Given the description of an element on the screen output the (x, y) to click on. 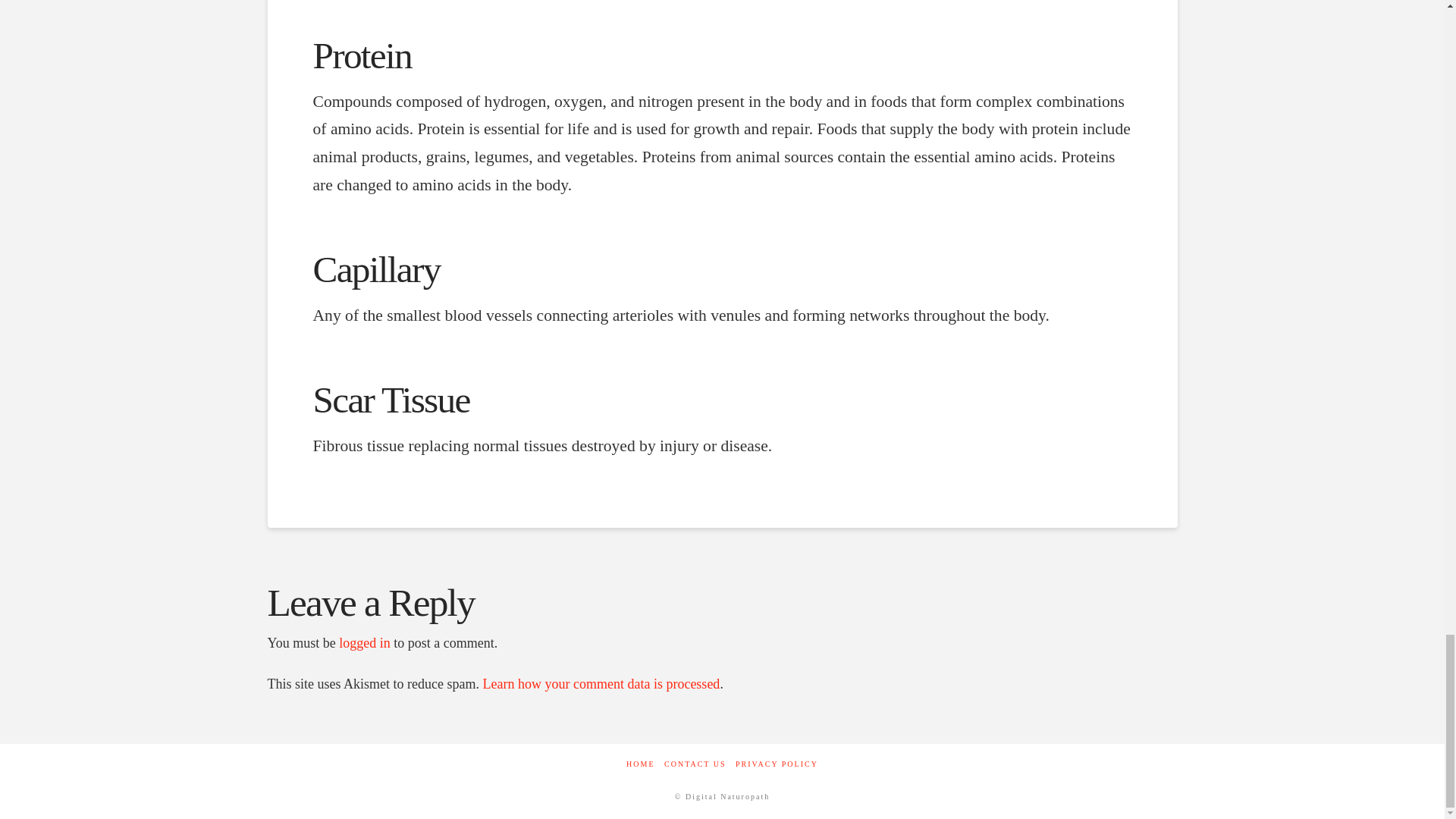
logged in (364, 642)
Learn how your comment data is processed (600, 683)
PRIVACY POLICY (776, 764)
HOME (639, 764)
CONTACT US (694, 764)
